Given the description of an element on the screen output the (x, y) to click on. 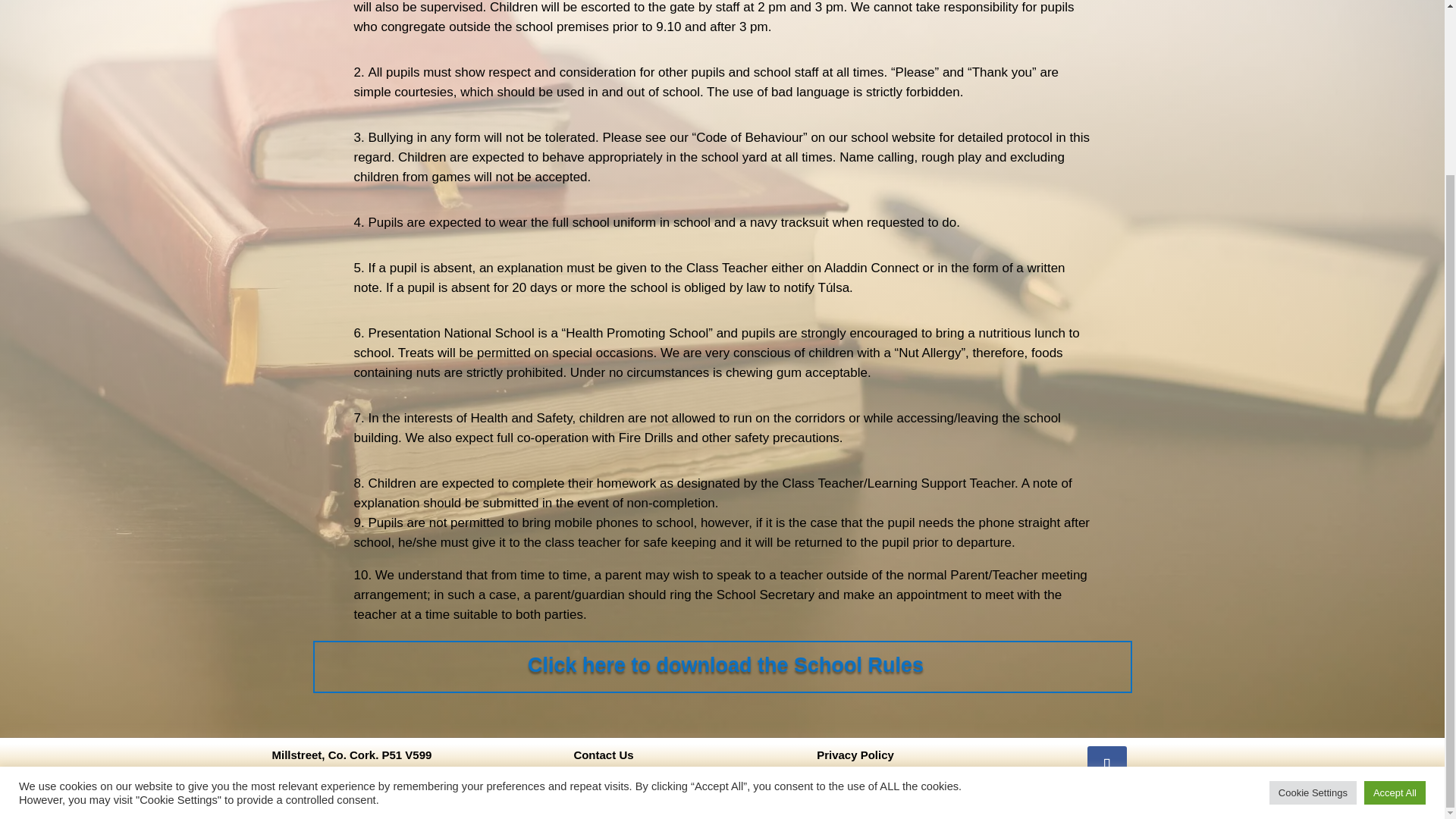
Follow on Facebook (1106, 765)
